Given the description of an element on the screen output the (x, y) to click on. 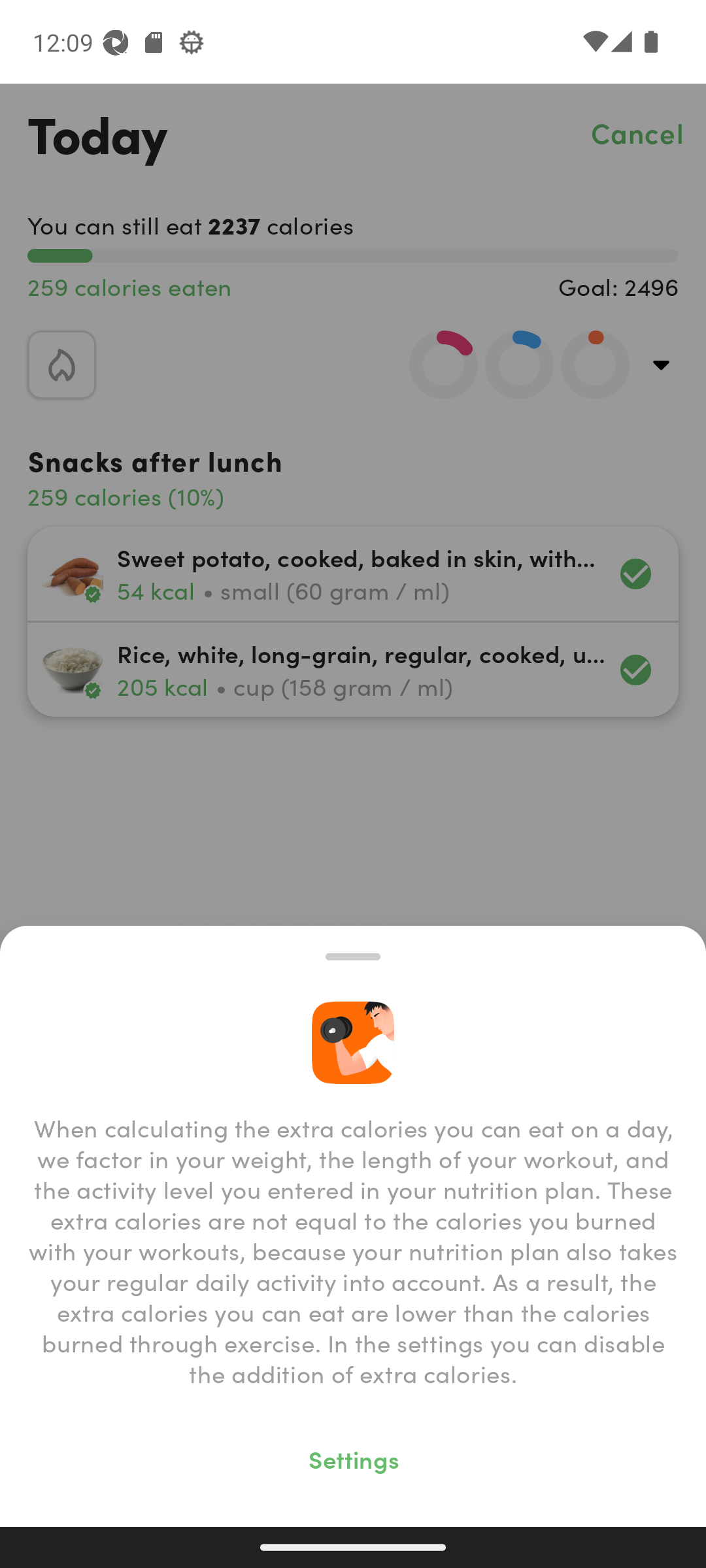
Settings (353, 1458)
